Given the description of an element on the screen output the (x, y) to click on. 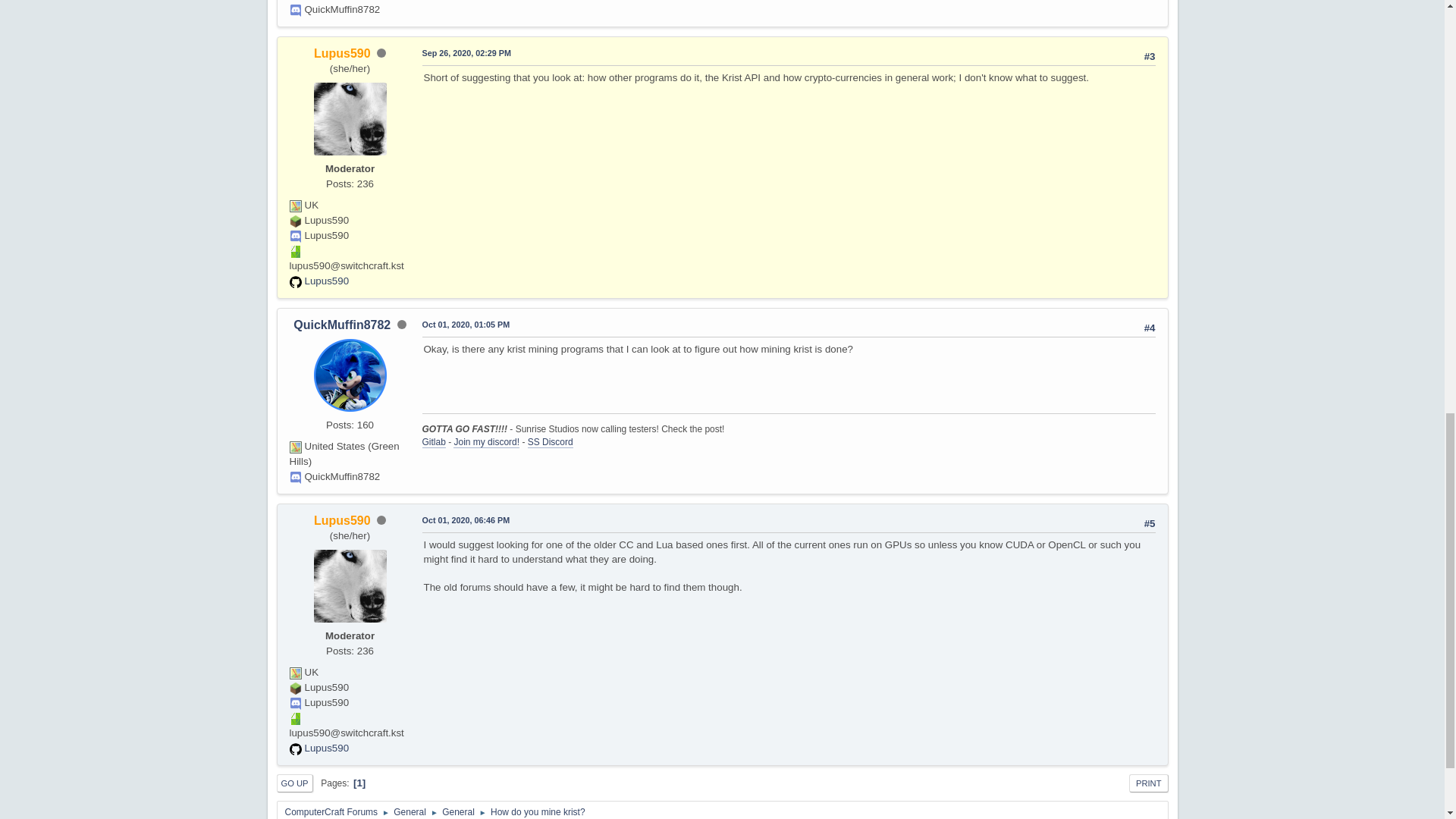
Location Element type: hover (295, 442)
QuickMuffin8782 Element type: text (341, 319)
ComputerCraft Forums Element type: text (331, 182)
Location Element type: hover (295, 668)
Discord Element type: text (373, 12)
Wiki Element type: text (333, 12)
PRINT Element type: text (1148, 278)
Buy Supporter Element type: text (434, 12)
Previous Topic Element type: text (1065, 235)
Lupus590 Element type: text (341, 515)
Discord Element type: hover (295, 698)
SS Discord Element type: text (550, 437)
Krist Address Element type: hover (295, 713)
Search Element type: text (1143, 157)
Offline Element type: hover (401, 786)
Forums Element type: text (290, 12)
General Element type: text (458, 182)
Next Topic Element type: text (1134, 235)
Join my discord! Element type: text (486, 437)
GO DOWN Element type: text (301, 278)
Discord Element type: hover (295, 472)
Sep 19, 2020, 01:11 PM Element type: text (477, 320)
Sep 26, 2020, 08:27 AM Element type: text (466, 787)
How do you mine krist? Element type: text (537, 182)
Search Element type: text (367, 156)
Offline Element type: hover (401, 319)
Lupus590 Element type: text (319, 743)
Create account Element type: text (1137, 13)
General Element type: text (409, 182)
QuickMuffin8782 Element type: text (341, 787)
GitHub Element type: hover (295, 743)
Log in Element type: text (1076, 14)
Minecraft Element type: hover (295, 683)
Offline Element type: hover (380, 515)
Sep 19, 2020, 07:14 PM Element type: text (465, 516)
Home Element type: text (304, 156)
Gitlab Element type: text (433, 437)
